Given the description of an element on the screen output the (x, y) to click on. 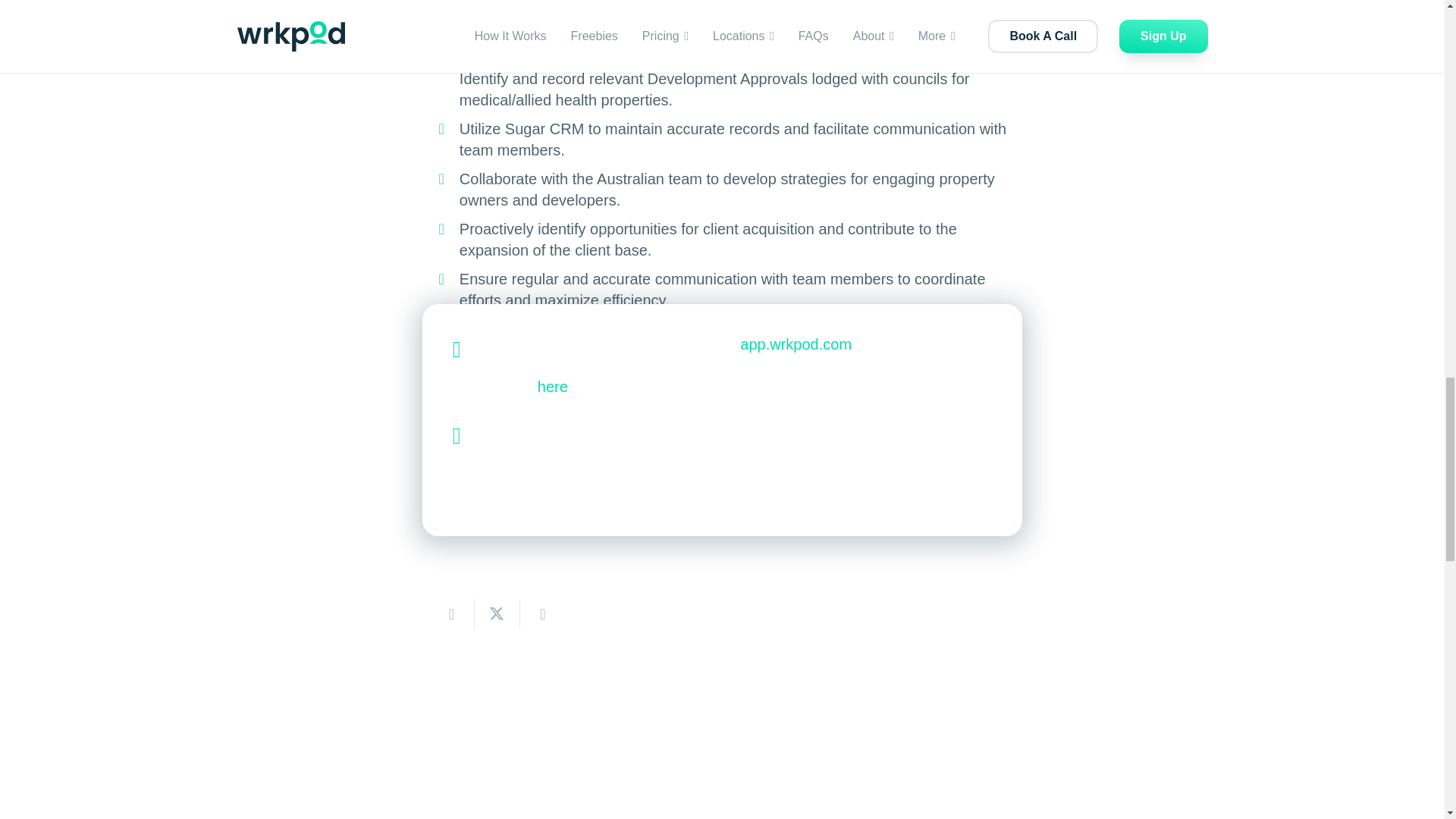
Share this (451, 613)
Share this (542, 613)
Tweet this (496, 613)
here (552, 386)
app.wrkpod.com (795, 343)
